Given the description of an element on the screen output the (x, y) to click on. 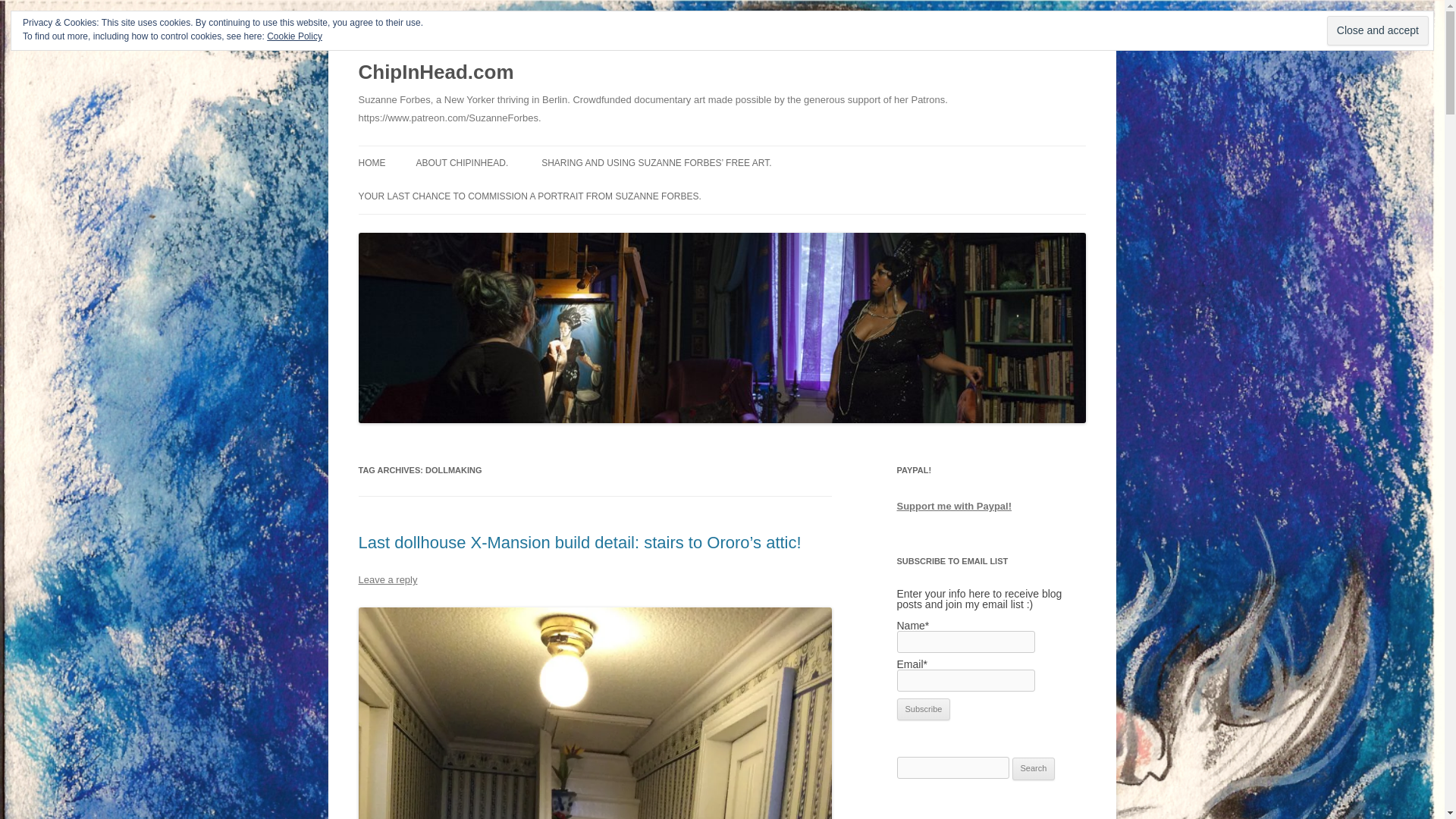
Close and accept (1377, 30)
CHIP IN HEAD, PLEASE. (490, 194)
Leave a reply (387, 579)
Search (1033, 768)
ChipInHead.com (435, 72)
ChipInHead.com (435, 72)
ABOUT CHIPINHEAD. (461, 162)
